Given the description of an element on the screen output the (x, y) to click on. 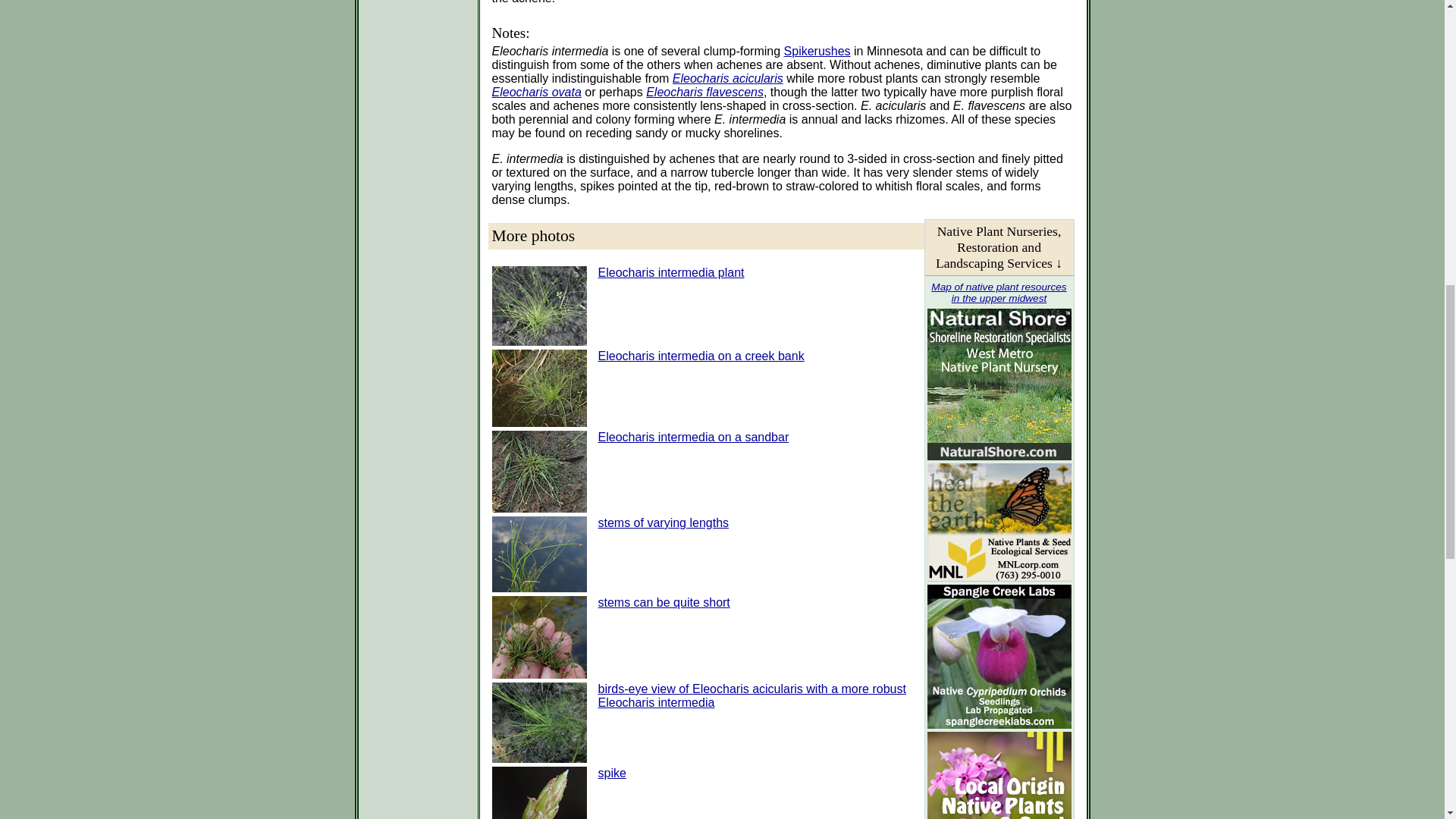
Map of native plant resources in the upper midwest (998, 292)
Eleocharis intermedia plant (670, 272)
 Eleocharis intermedia on a creek bank (699, 355)
 stems of varying lengths (662, 522)
 stems can be quite short (662, 602)
Eleocharis acicularis (727, 78)
Eleocharis flavescens (704, 91)
Spikerushes (817, 51)
stems of varying lengths (662, 522)
 Eleocharis intermedia on a sandbar (692, 436)
Eleocharis intermedia on a sandbar (692, 436)
Eleocharis ovata (536, 91)
spike (611, 772)
